Given the description of an element on the screen output the (x, y) to click on. 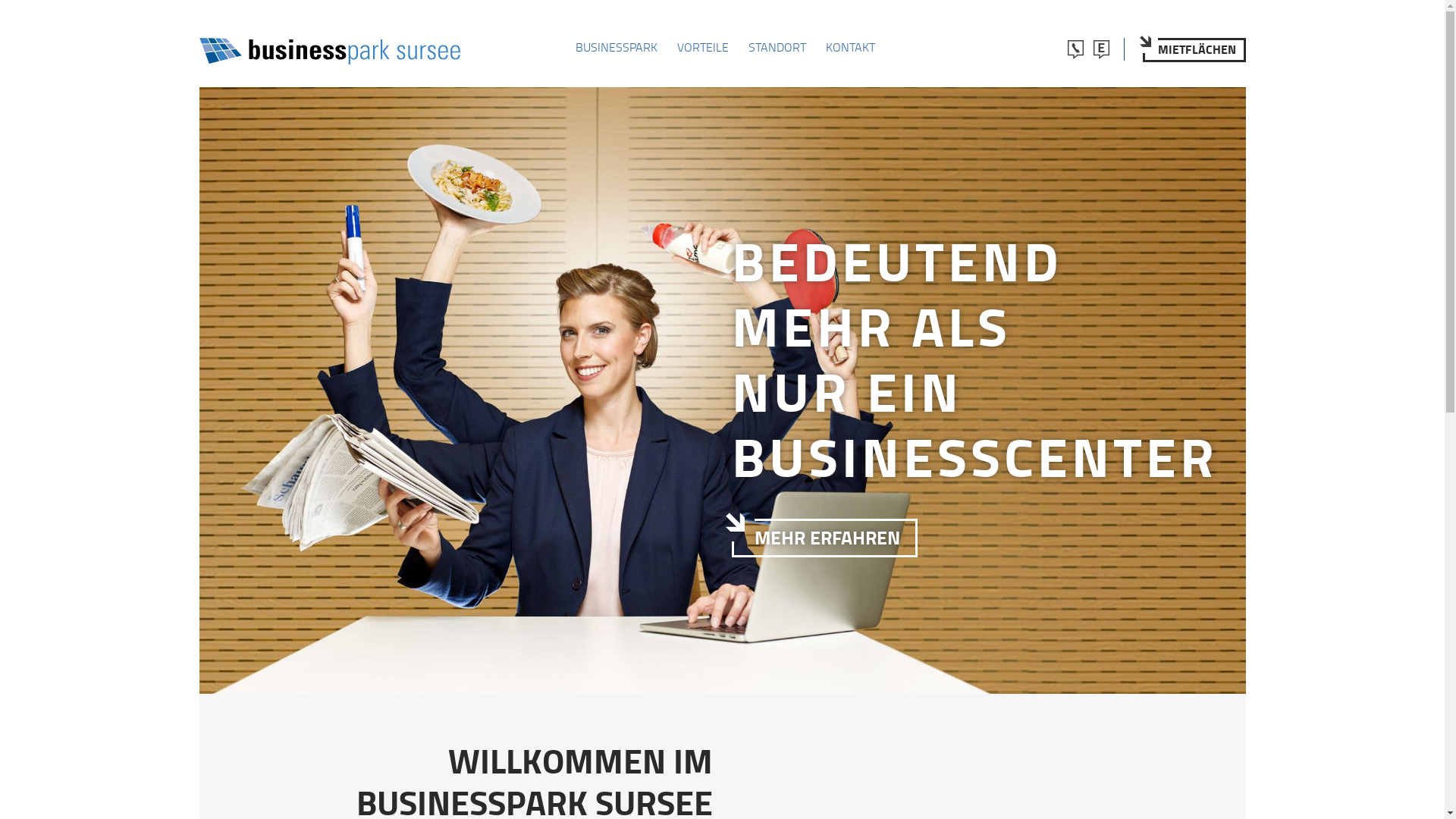
VORTEILE Element type: text (702, 46)
MEHR ERFAHREN Element type: text (823, 537)
BUSINESSPARK Element type: text (615, 46)
Kontakt Element type: text (1075, 48)
KONTAKT Element type: text (849, 46)
STANDORT Element type: text (776, 46)
English Element type: text (1101, 48)
